Given the description of an element on the screen output the (x, y) to click on. 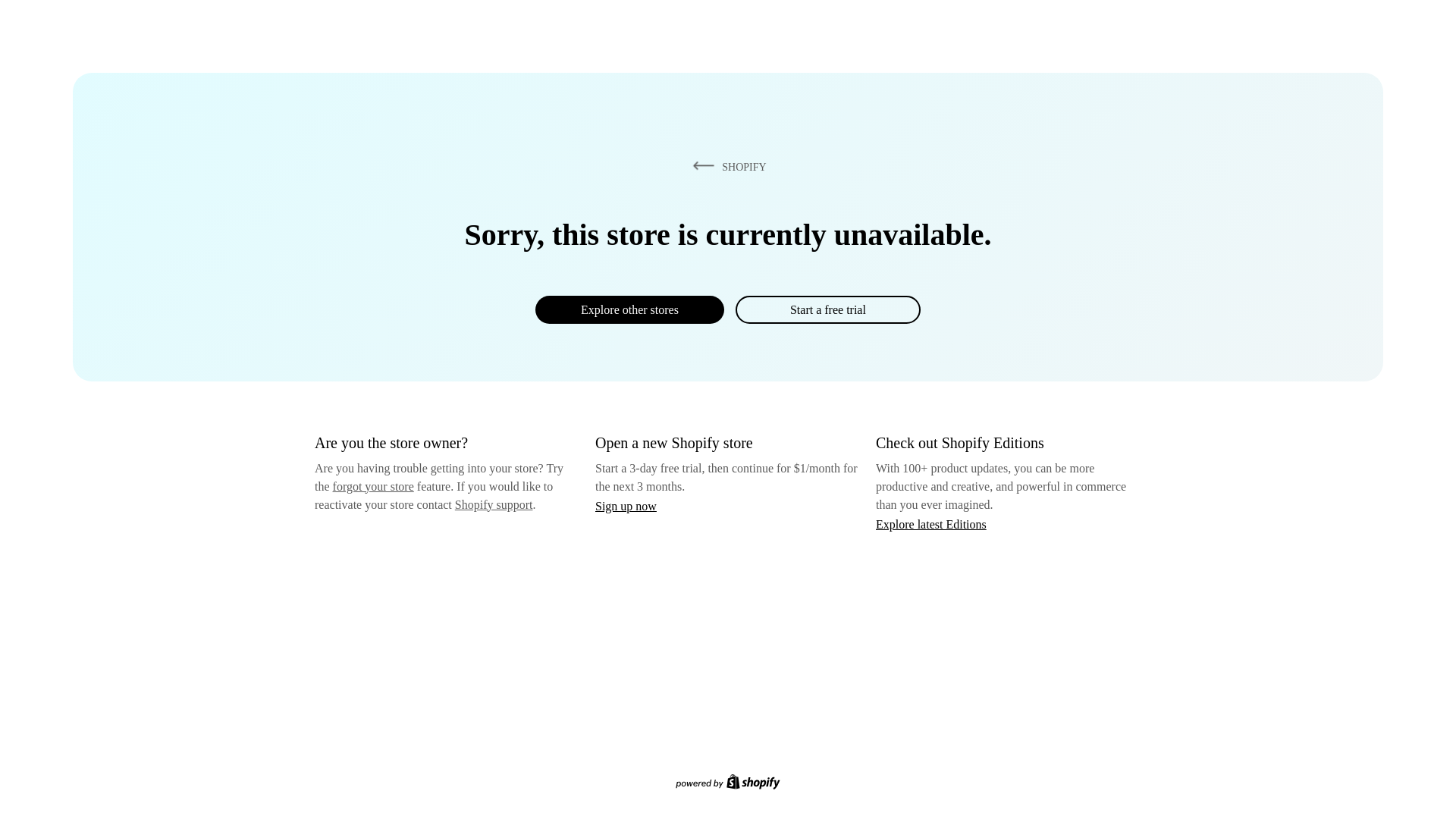
Sign up now (625, 505)
SHOPIFY (726, 166)
Shopify support (493, 504)
forgot your store (373, 486)
Explore other stores (629, 309)
Explore latest Editions (931, 523)
Start a free trial (827, 309)
